Given the description of an element on the screen output the (x, y) to click on. 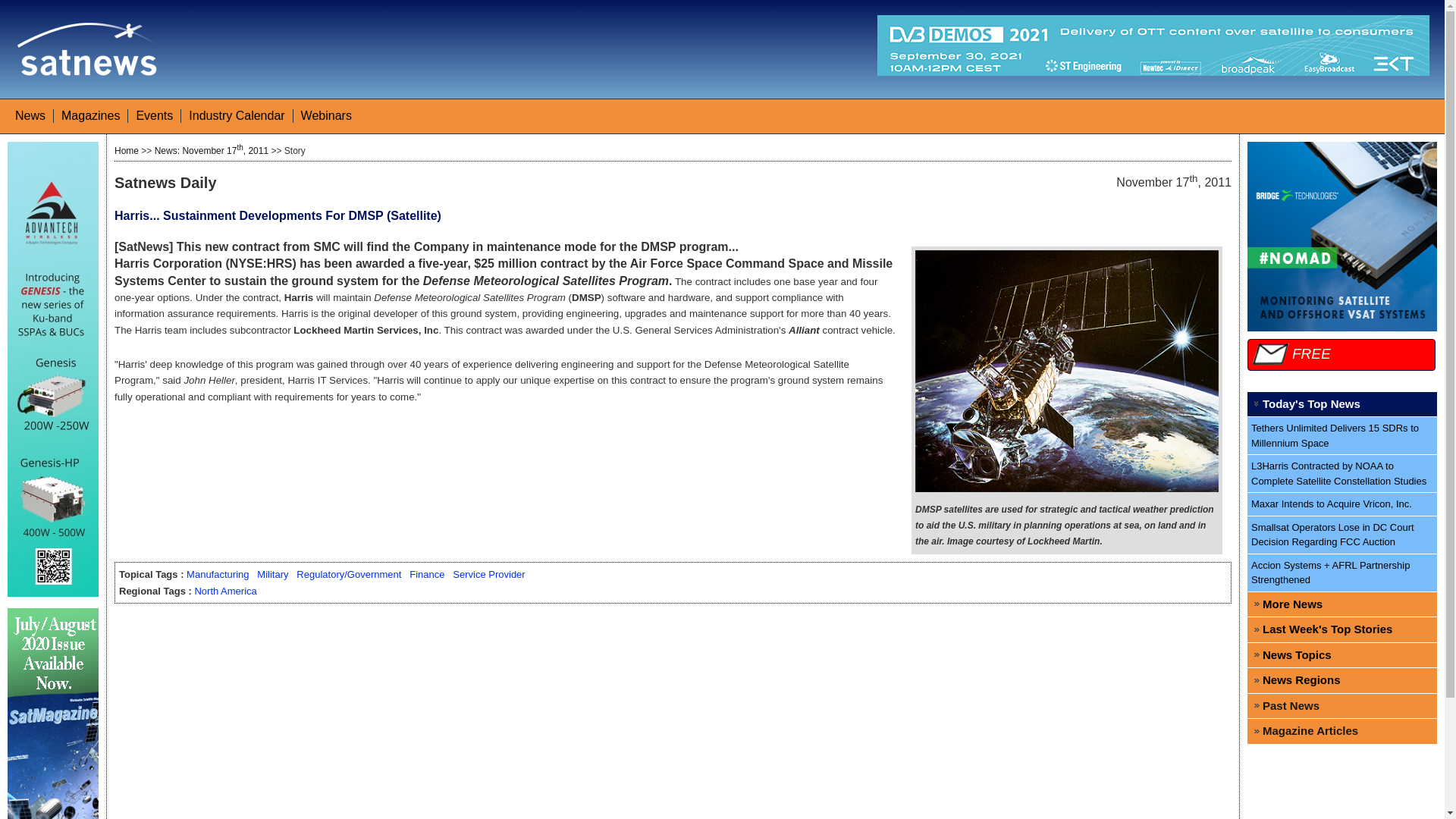
Manufacturing (217, 573)
Magazines (90, 115)
Webinars (326, 115)
Maxar Intends to Acquire Vricon, Inc. (1342, 504)
Home (126, 150)
North America (224, 591)
Events (154, 115)
Finance (426, 573)
News: November 17th, 2011 (210, 150)
Service Provider (488, 573)
